Given the description of an element on the screen output the (x, y) to click on. 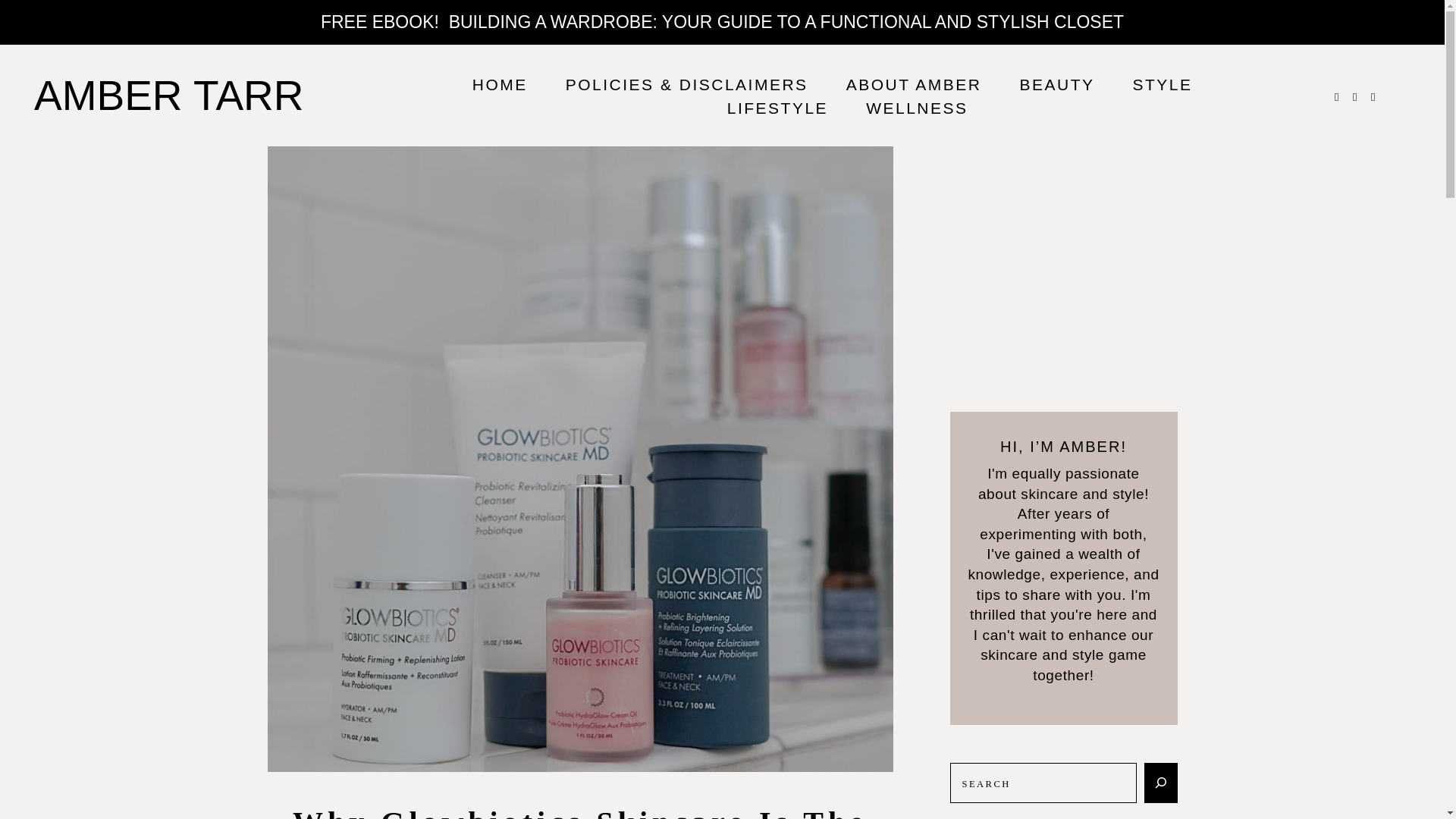
HOME (499, 84)
AMBER TARR (168, 94)
LIFESTYLE (776, 107)
ABOUT AMBER (913, 84)
STYLE (1161, 84)
WELLNESS (916, 107)
BEAUTY (1055, 84)
